Given the description of an element on the screen output the (x, y) to click on. 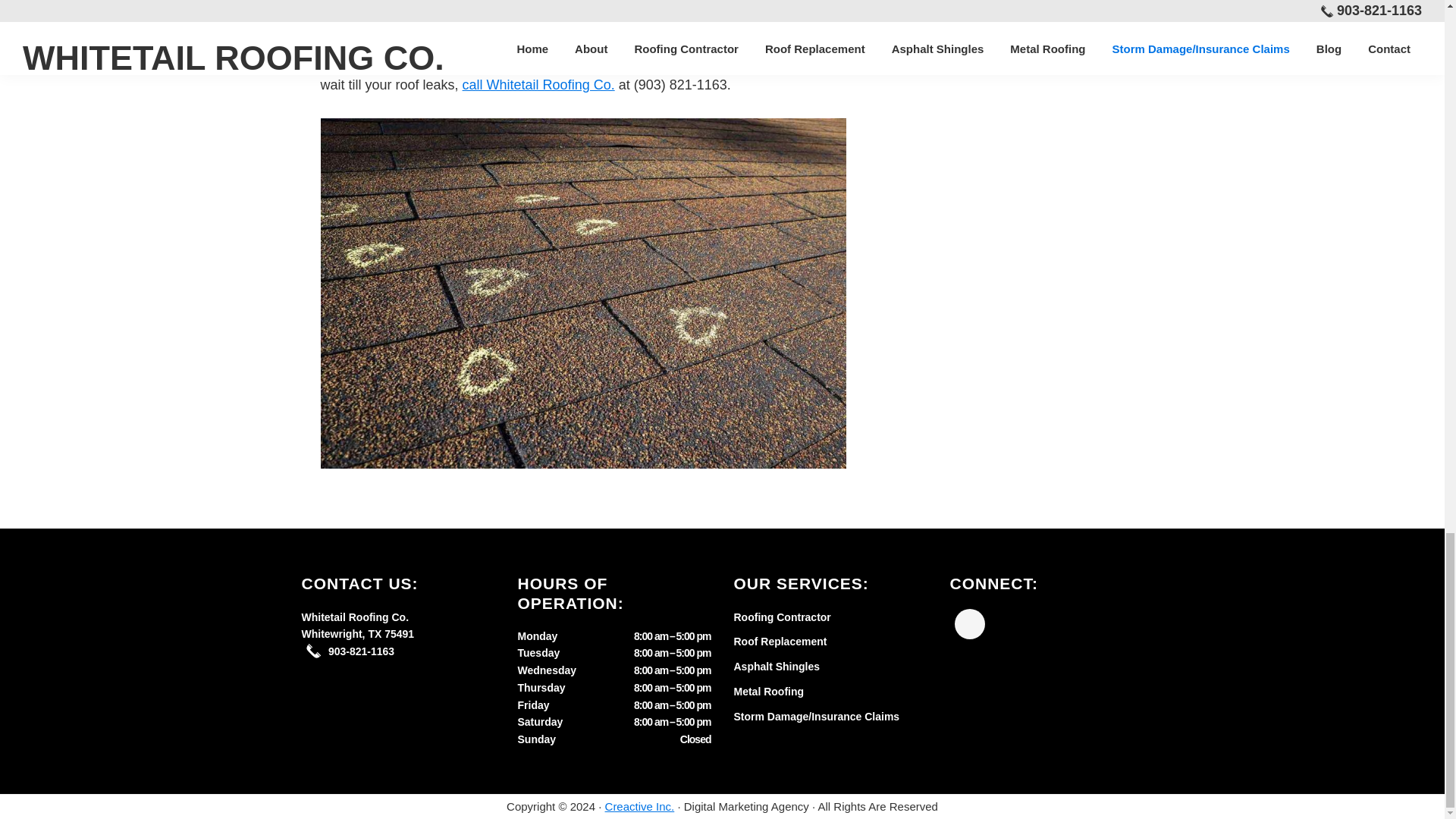
call Whitetail Roofing Co. (538, 84)
Roof Replacement (780, 641)
Creactive Inc. (640, 806)
903-821-1163 (361, 651)
Asphalt Shingles (777, 666)
Metal Roofing (769, 691)
Roofing Contractor (782, 616)
